Given the description of an element on the screen output the (x, y) to click on. 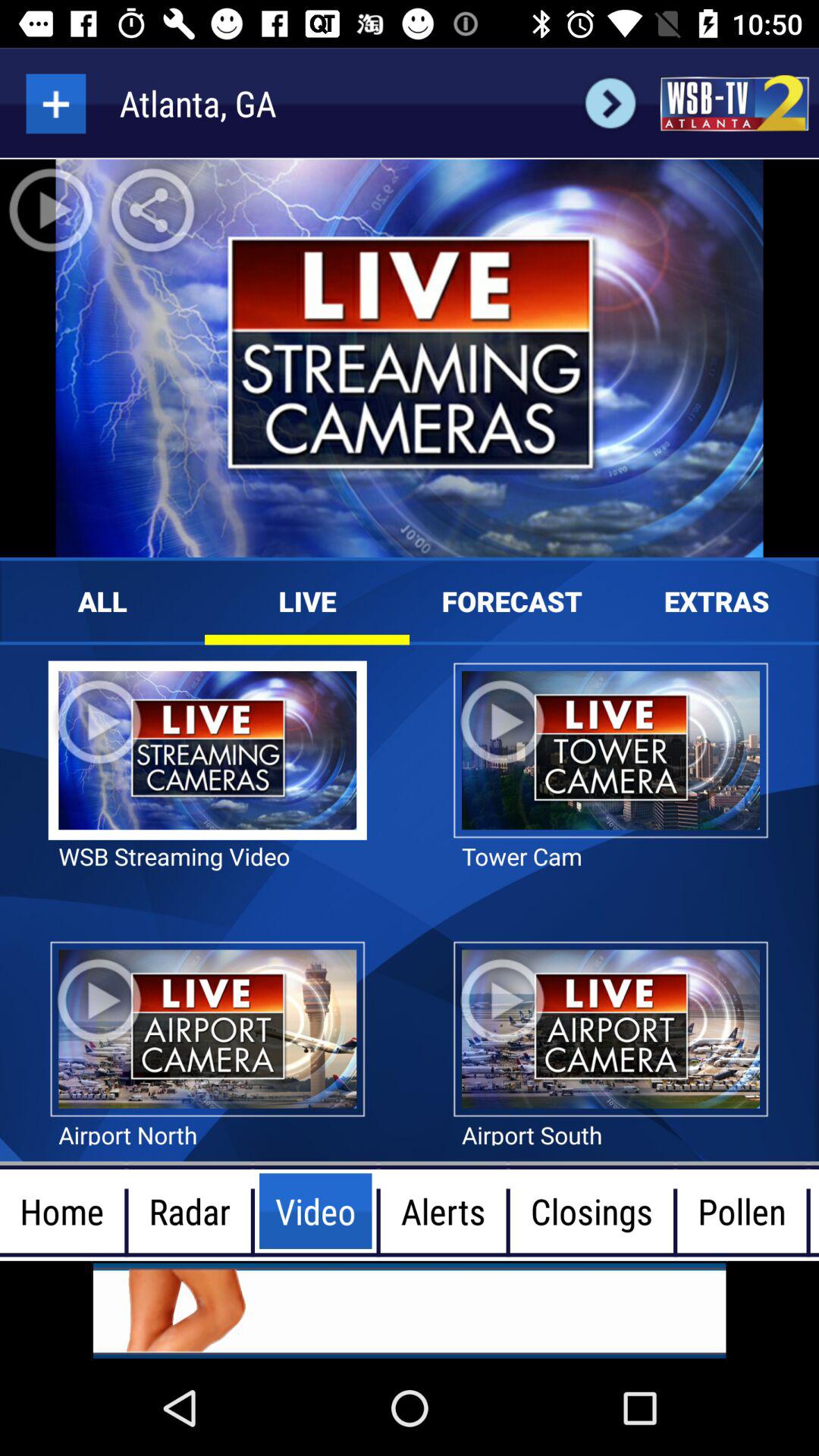
previous page (610, 103)
